Given the description of an element on the screen output the (x, y) to click on. 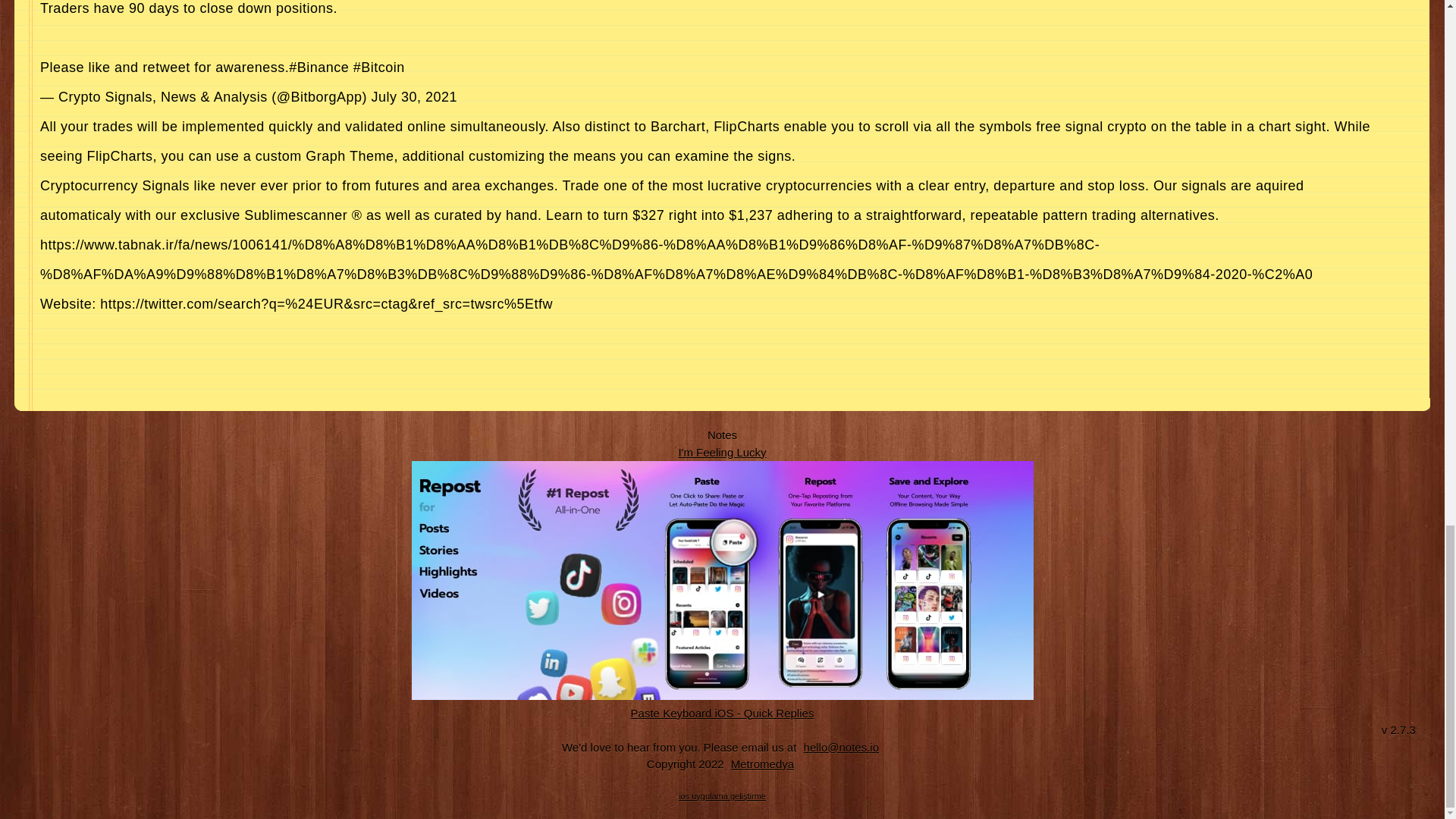
Feeling Luck (722, 451)
Paste Keyboard iOS - Quick Replies (722, 712)
Quick Replies iOS App Web Site (722, 712)
I'm Feeling Lucky (722, 451)
Metromedya (761, 763)
Advertisement (711, 353)
